Given the description of an element on the screen output the (x, y) to click on. 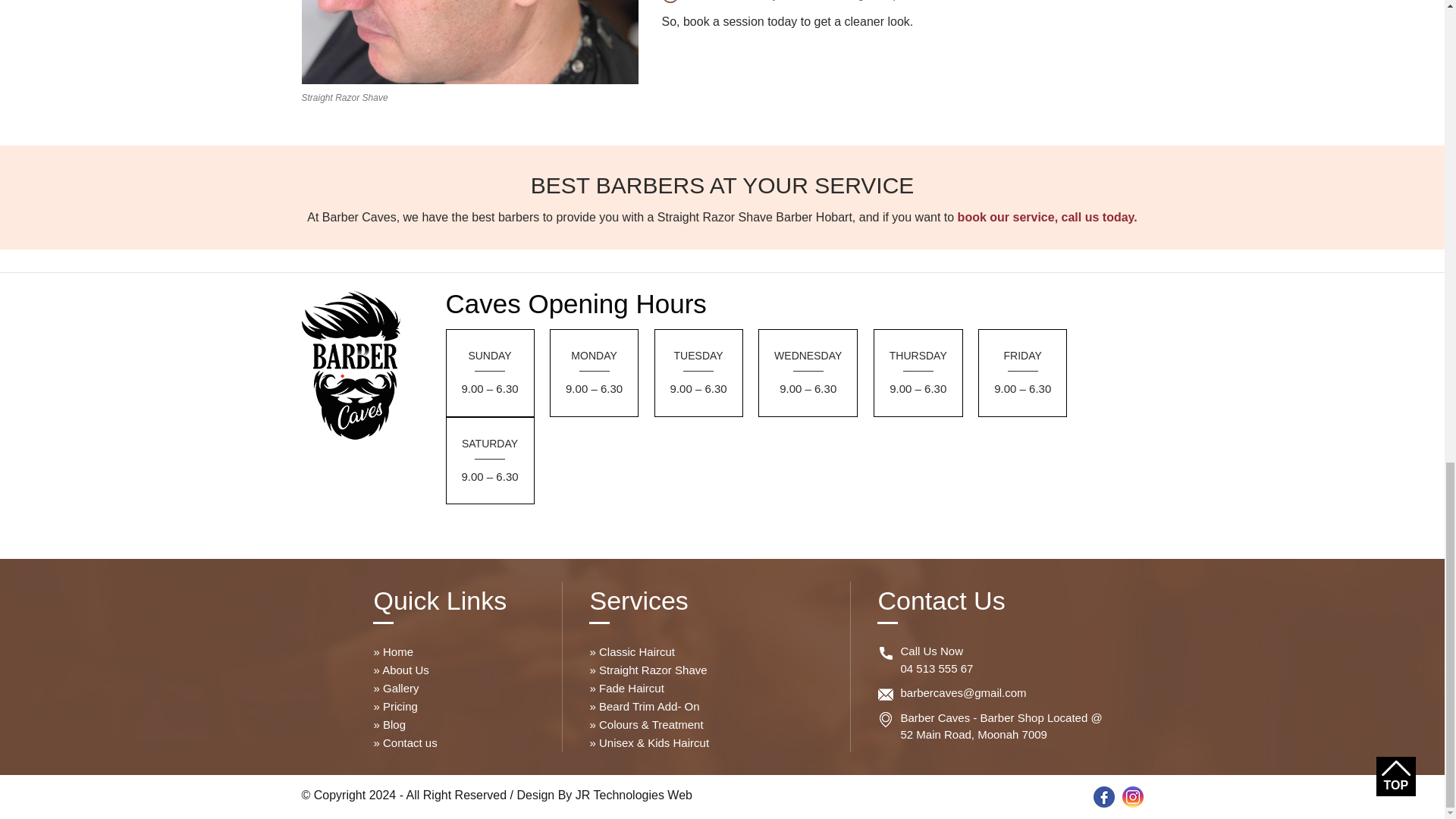
JR Technologies Web (634, 794)
04 513 555 67 (935, 667)
book our service, call us today. (1047, 216)
